Given the description of an element on the screen output the (x, y) to click on. 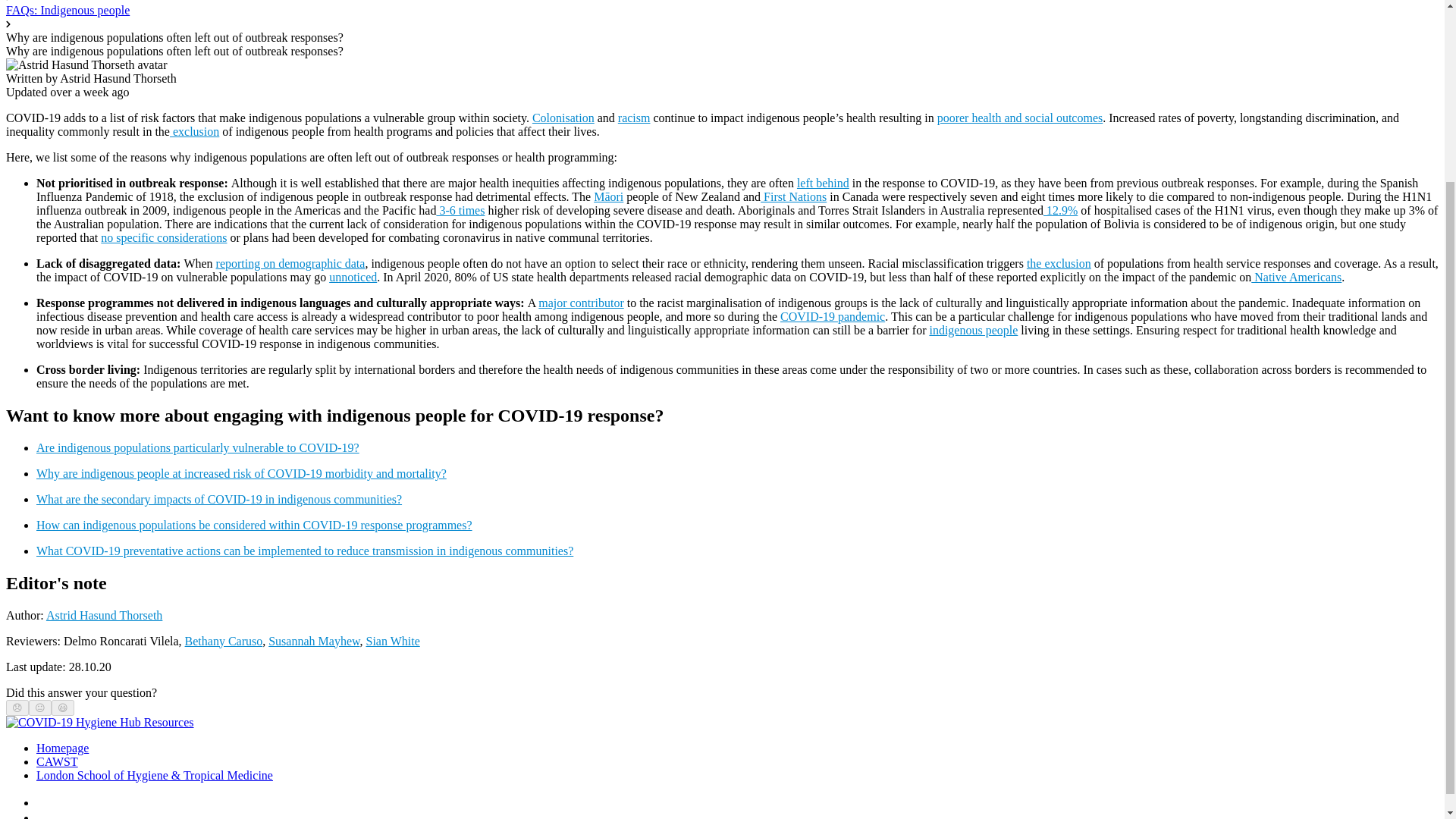
exclusion (194, 131)
Native Americans (1295, 277)
CAWST (57, 761)
Smiley (63, 707)
FAQs: Indigenous people (67, 10)
Sian White (392, 640)
3-6 times (459, 210)
racism (633, 117)
Homepage (62, 748)
Disappointed (17, 707)
unnoticed (353, 277)
indigenous people (972, 329)
major contributor (580, 302)
